Given the description of an element on the screen output the (x, y) to click on. 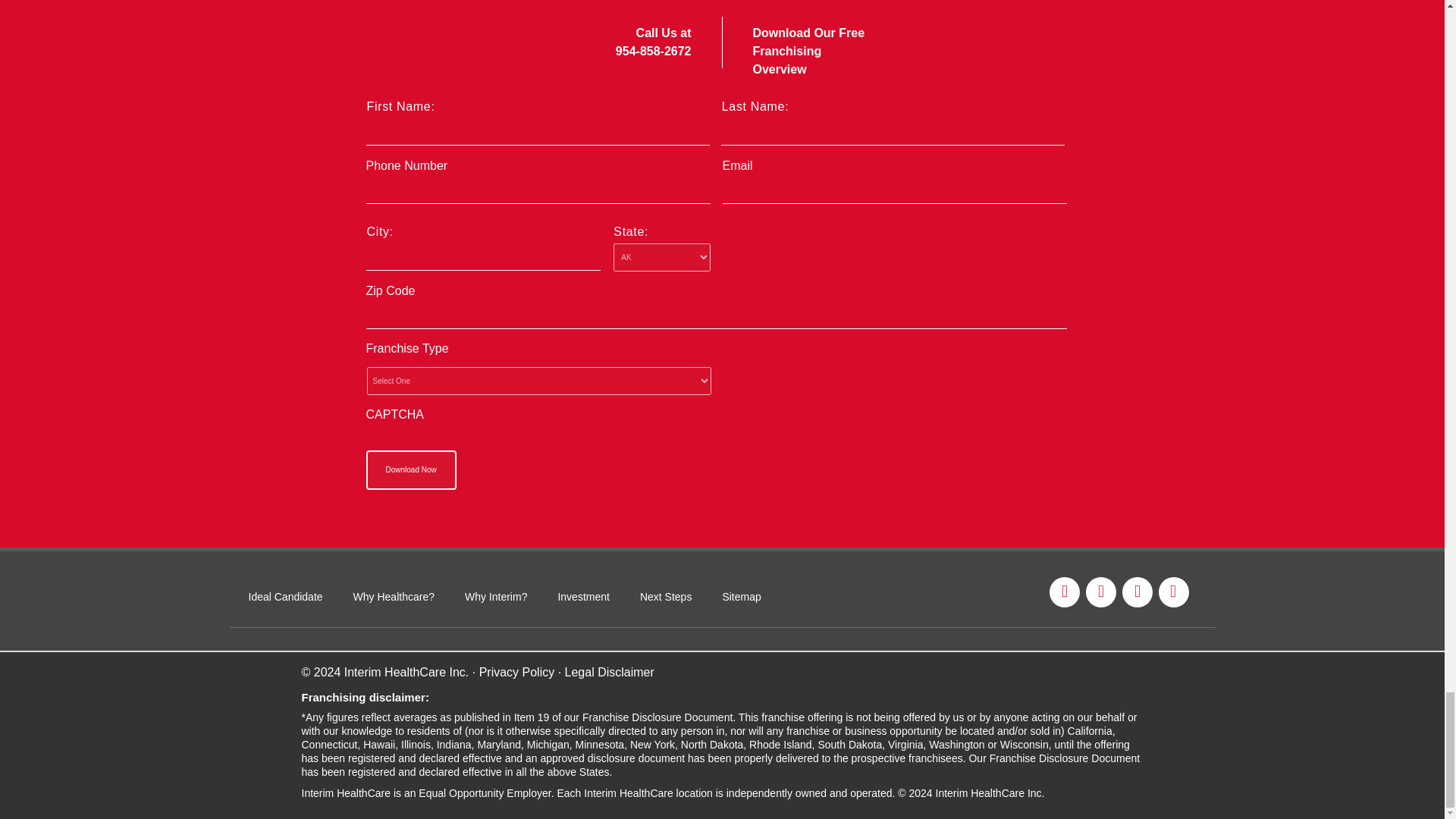
Download Now (410, 469)
